Given the description of an element on the screen output the (x, y) to click on. 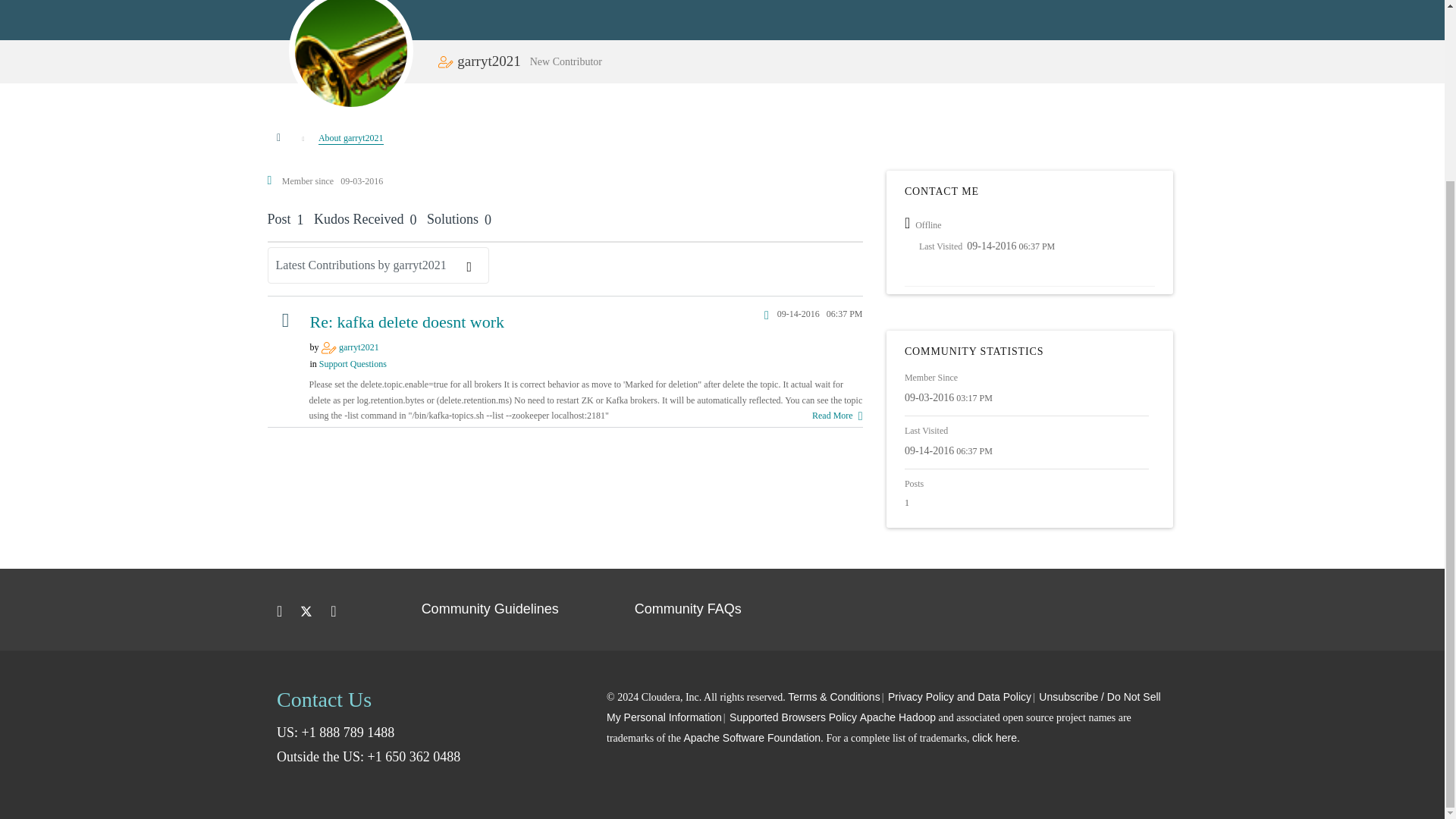
New Contributor (328, 347)
garryt2021 (358, 347)
Support Questions (352, 363)
Latest Contributions by garryt2021 (376, 265)
Community FAQs (687, 608)
Contact Us (323, 699)
Posted on (793, 314)
Forum (285, 317)
... View more (835, 416)
Community Guidelines (490, 608)
Re: kafka delete doesnt work (405, 321)
garryt2021 (351, 53)
Show option menu (376, 265)
